Given the description of an element on the screen output the (x, y) to click on. 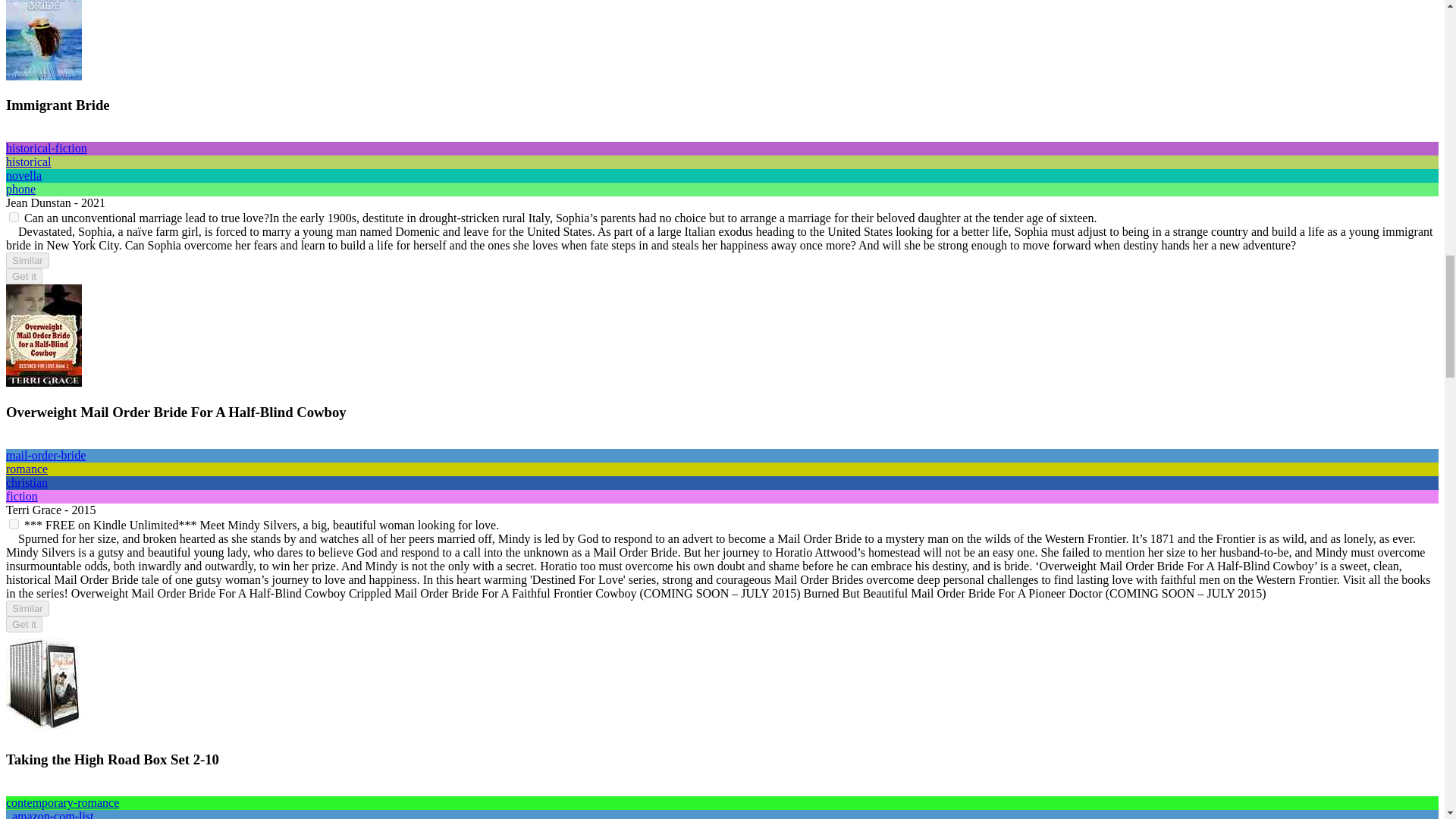
on (13, 216)
novella (23, 174)
phone (19, 188)
historical-fiction (46, 147)
historical (27, 161)
on (13, 524)
